Given the description of an element on the screen output the (x, y) to click on. 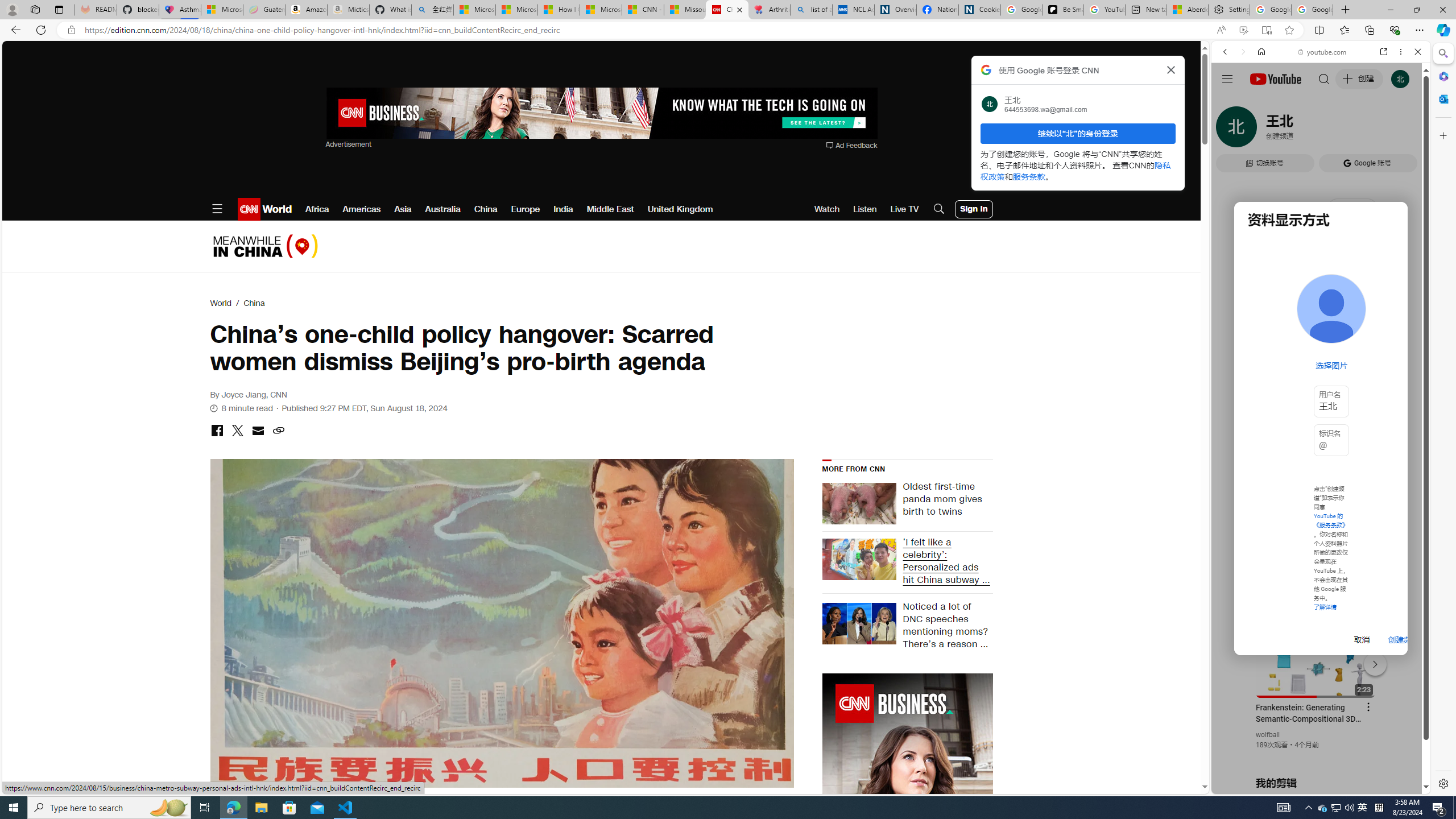
WEB   (1230, 130)
Search the web (1326, 78)
World (220, 303)
United Kingdom (680, 209)
Preferences (1403, 129)
Google (1266, 331)
Class: icon-social-facebook (216, 430)
